Given the description of an element on the screen output the (x, y) to click on. 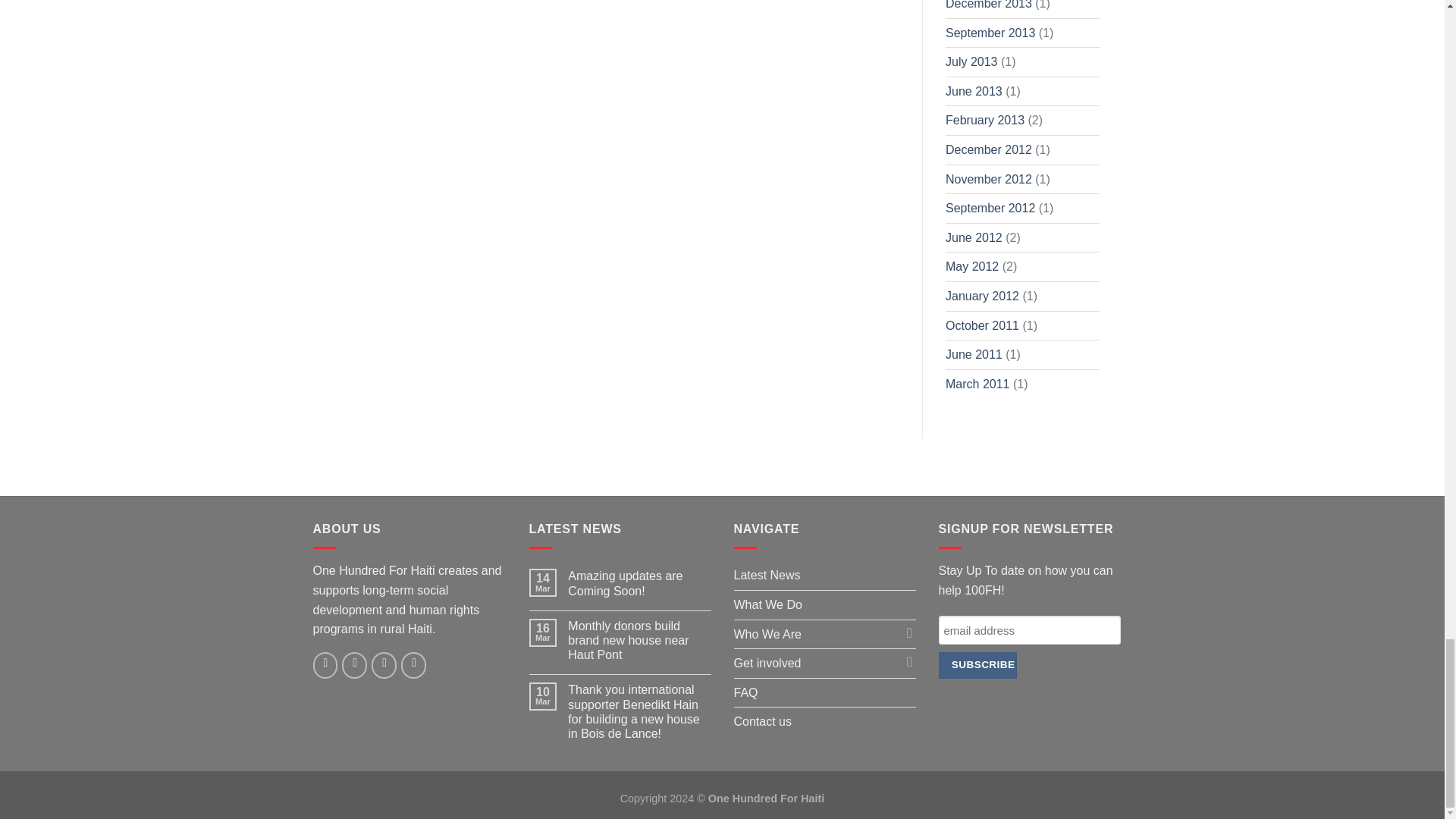
Monthly donors build brand new house near Haut Pont (638, 640)
Subscribe (977, 664)
Amazing updates are Coming Soon! (638, 582)
